Given the description of an element on the screen output the (x, y) to click on. 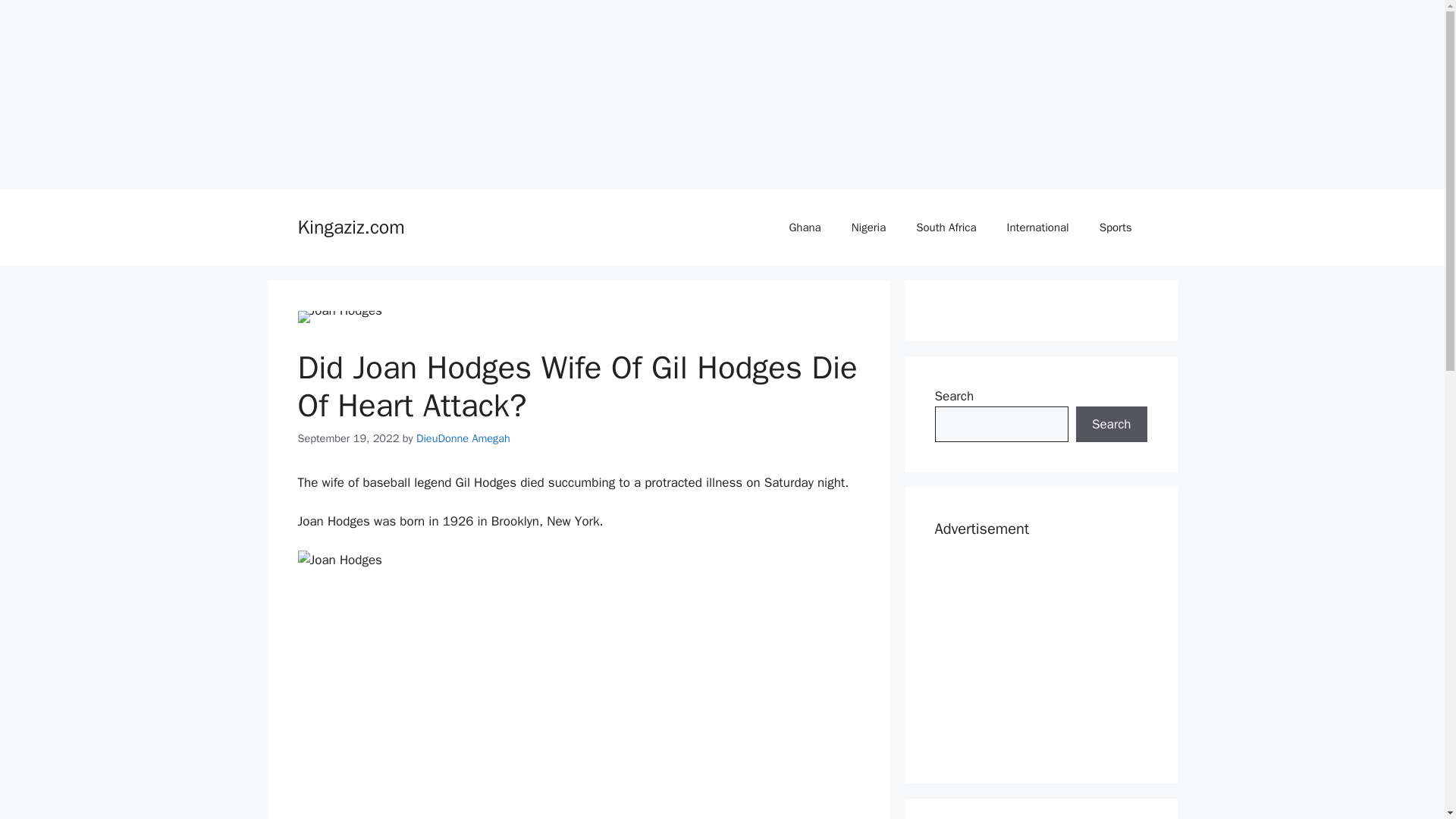
Kingaziz.com (350, 227)
Sports (1115, 227)
Search (1111, 424)
International (1037, 227)
South Africa (946, 227)
Nigeria (868, 227)
Ghana (804, 227)
DieuDonne Amegah (463, 438)
View all posts by DieuDonne Amegah (463, 438)
